Given the description of an element on the screen output the (x, y) to click on. 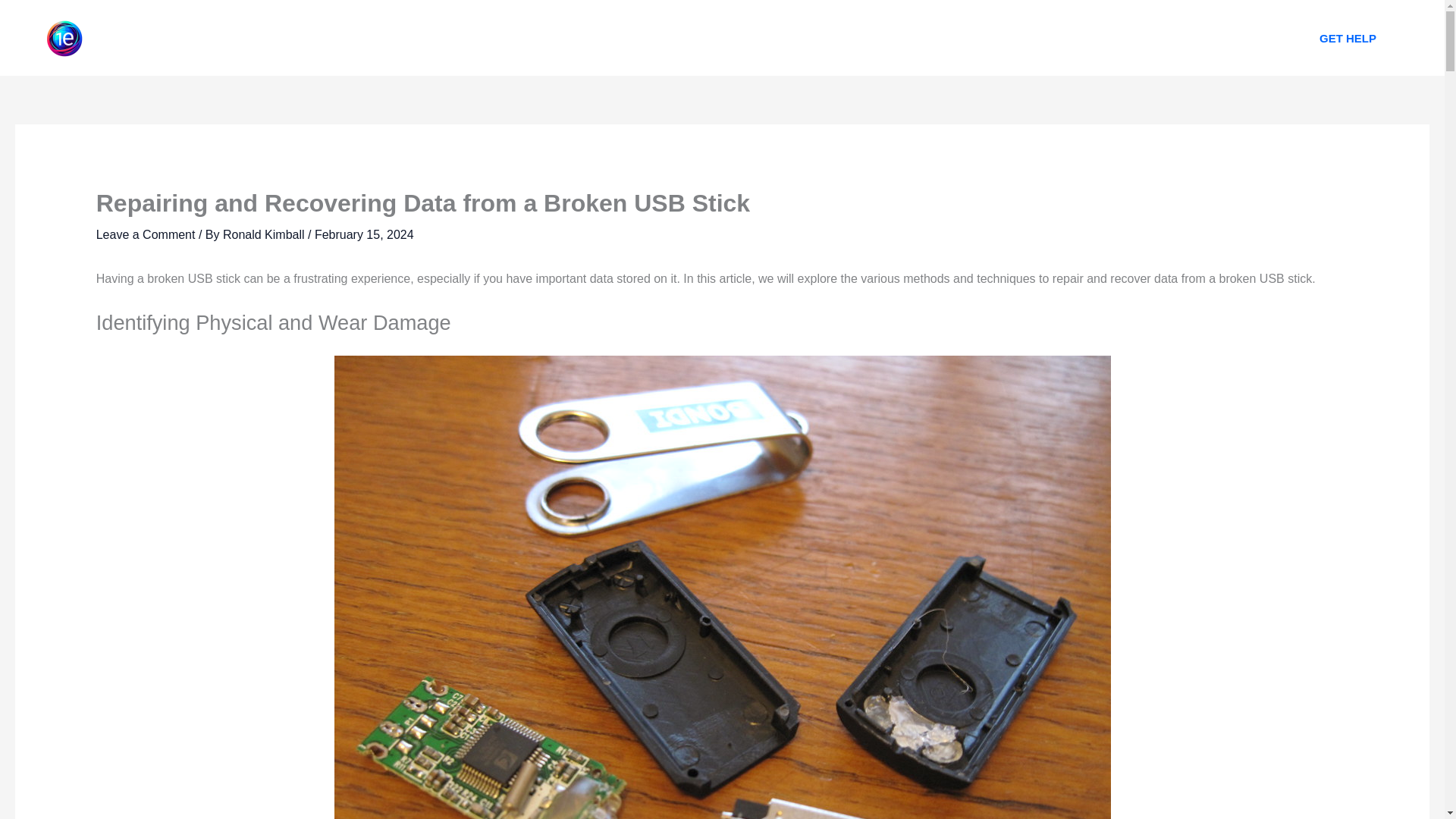
CONTACT (841, 37)
Ronald Kimball (264, 234)
HOME (592, 37)
Leave a Comment (145, 234)
OFFERINGS (747, 37)
GET HELP (1348, 38)
ABOUT (662, 37)
View all posts by Ronald Kimball (264, 234)
